Given the description of an element on the screen output the (x, y) to click on. 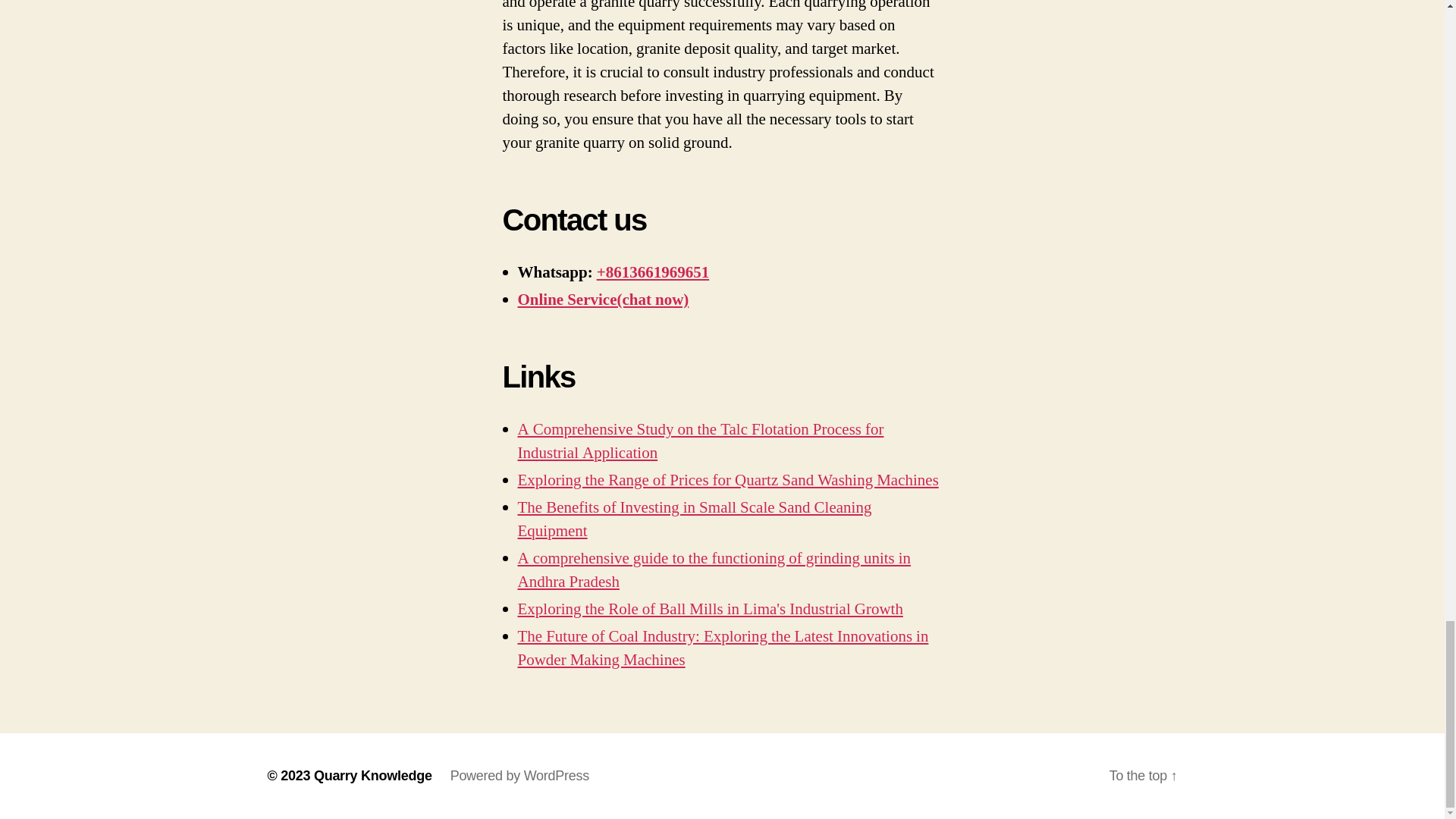
Quarry Knowledge (373, 775)
Powered by WordPress (519, 775)
Exploring the Role of Ball Mills in Lima's Industrial Growth (709, 608)
